Given the description of an element on the screen output the (x, y) to click on. 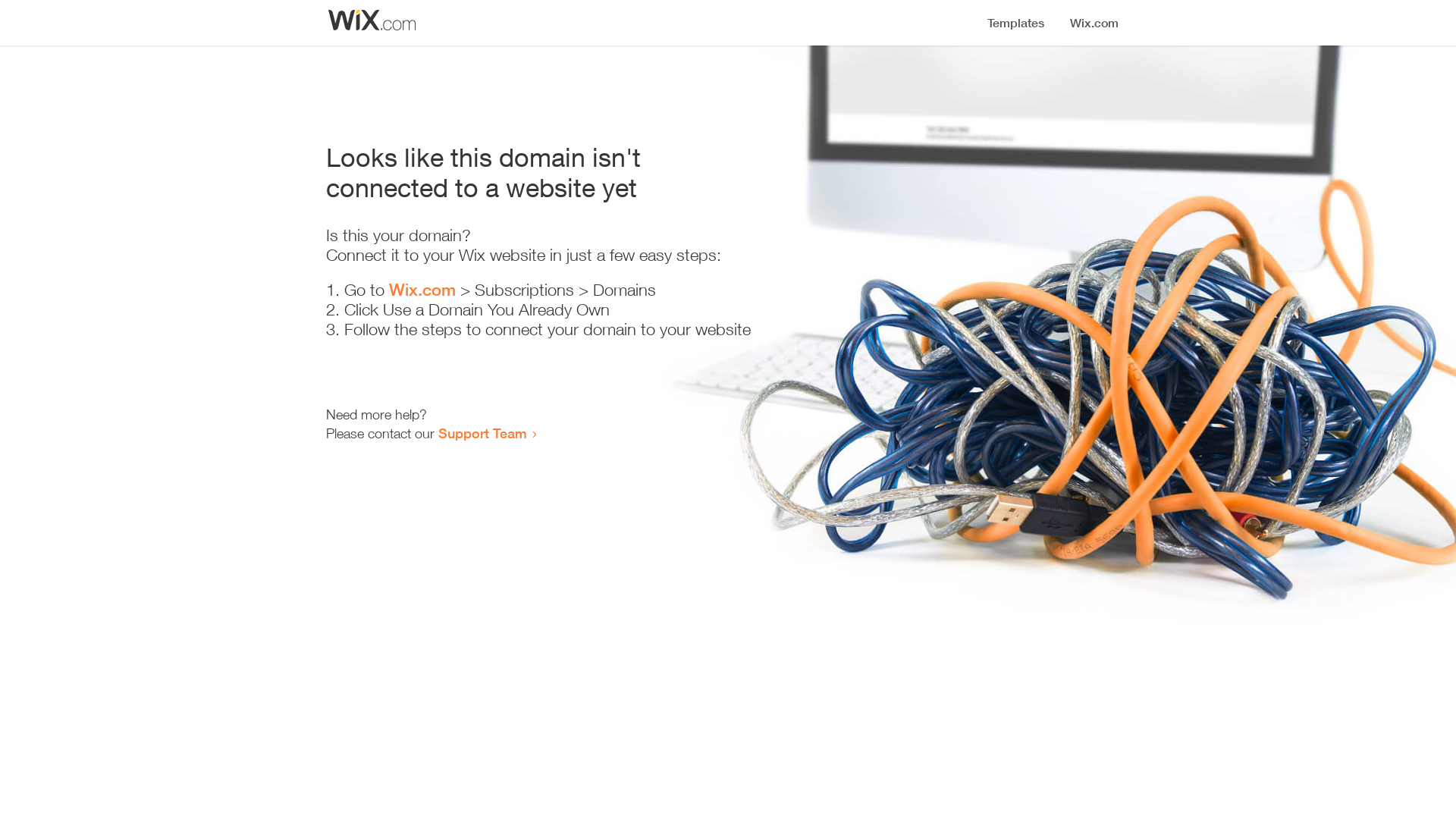
Wix.com Element type: text (422, 289)
Support Team Element type: text (482, 432)
